Given the description of an element on the screen output the (x, y) to click on. 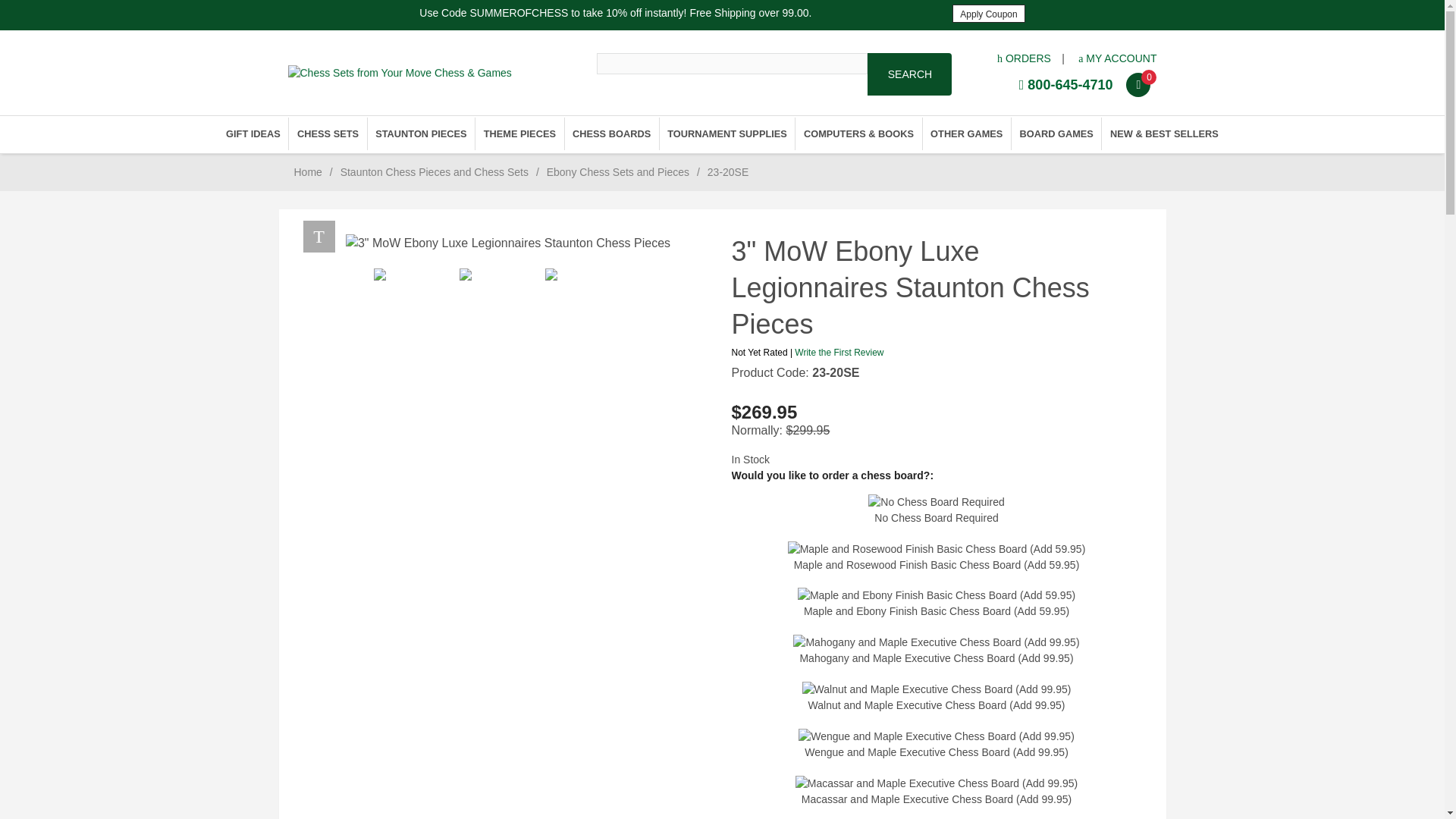
 800-645-4710 (1066, 84)
CHESS SETS (327, 133)
No Chess Board Required (935, 509)
Would you like to order a chess board?: (935, 475)
Search (909, 74)
Staunton Chess Pieces and Chess Sets (434, 172)
SEARCH (909, 74)
GIFT IDEAS (253, 133)
3" MoW Ebony Luxe Legionnaires Staunton Chess Pieces (507, 243)
0 (1140, 83)
Apply Coupon (988, 13)
Ebony Chess Sets and Pieces (617, 172)
Home (307, 172)
STAUNTON PIECES (421, 133)
No Chess Board Required (935, 502)
